Given the description of an element on the screen output the (x, y) to click on. 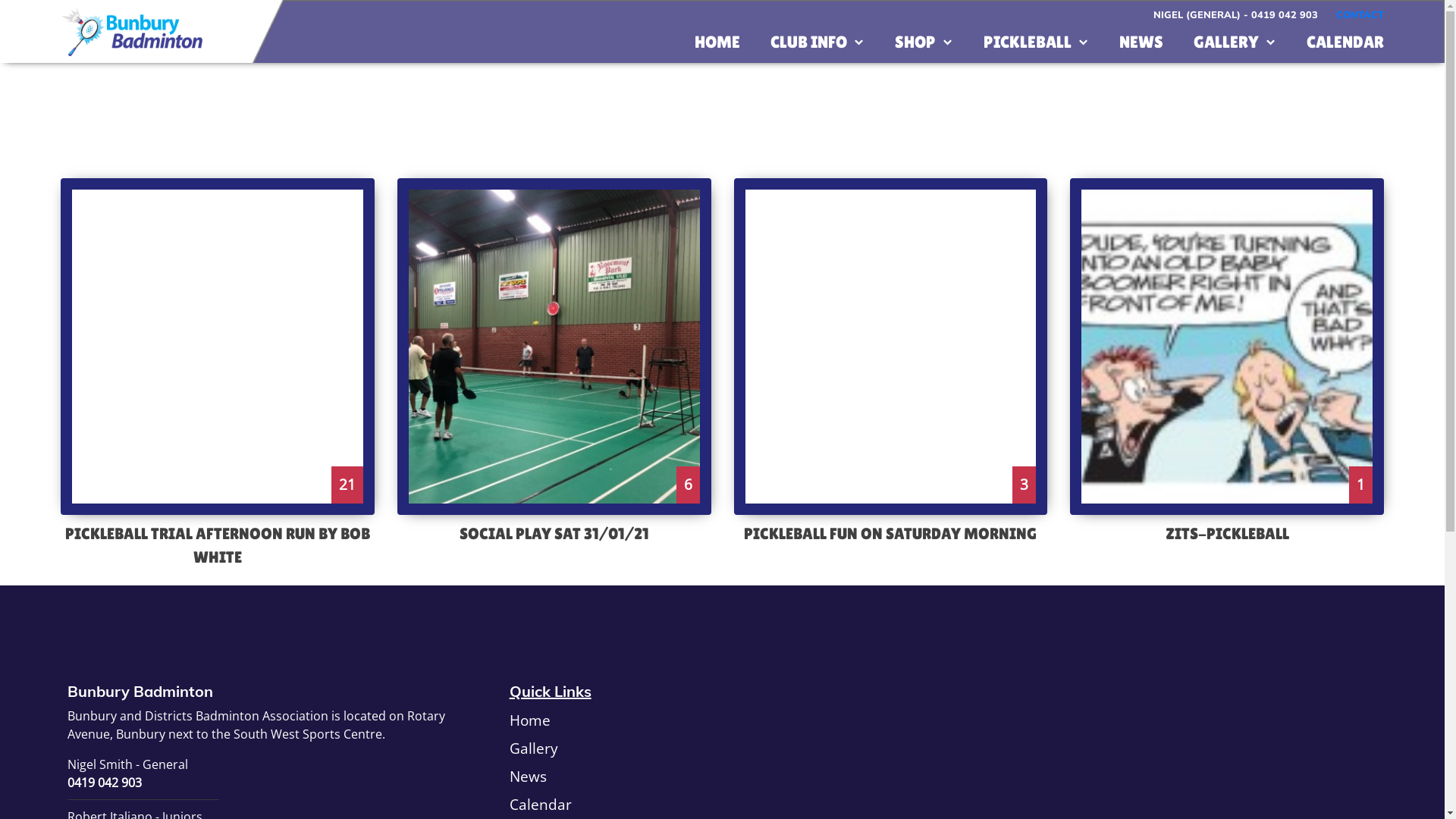
21
PICKLEBALL TRIAL AFTERNOON RUN BY BOB WHITE Element type: text (217, 373)
1
ZITS-PICKLEBALL Element type: text (1226, 362)
NEWS Element type: text (1141, 41)
CONTACT Element type: text (1359, 14)
SHOP Element type: text (923, 42)
CALENDAR Element type: text (1344, 41)
Calendar Element type: text (540, 804)
CLUB INFO Element type: text (817, 42)
News Element type: text (527, 776)
6
SOCIAL PLAY SAT 31/01/21 Element type: text (554, 362)
HOME Element type: text (717, 41)
Gallery Element type: text (533, 748)
3
PICKLEBALL FUN ON SATURDAY MORNING Element type: text (891, 362)
GALLERY Element type: text (1234, 42)
Home Element type: text (529, 720)
PICKLEBALL Element type: text (1035, 42)
